Given the description of an element on the screen output the (x, y) to click on. 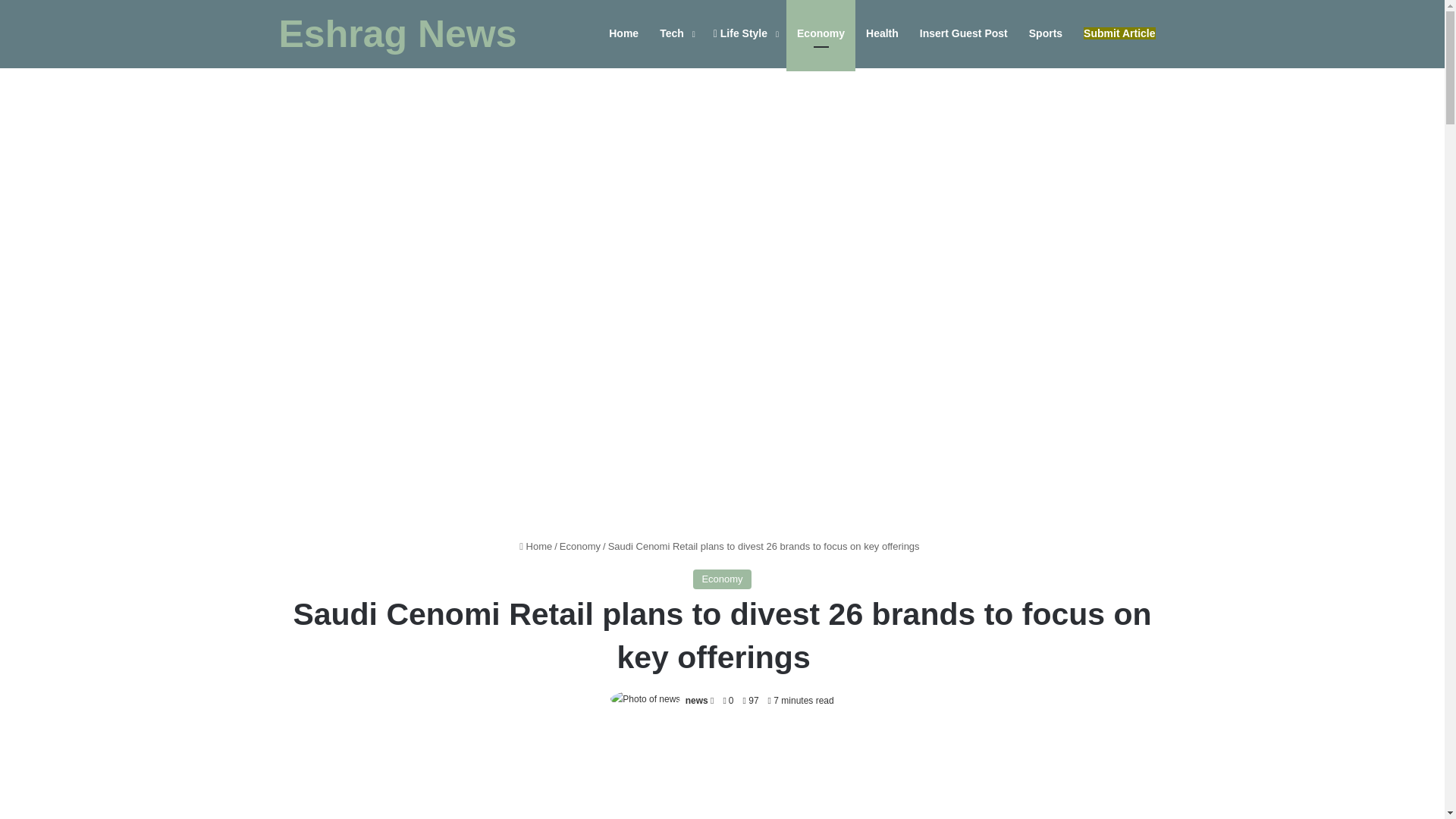
Economy (579, 546)
Economy (821, 33)
Economy (722, 578)
Eshrag News (397, 34)
Life Style (744, 33)
news (696, 700)
Submit Article (1119, 33)
Insert Guest Post (962, 33)
